Given the description of an element on the screen output the (x, y) to click on. 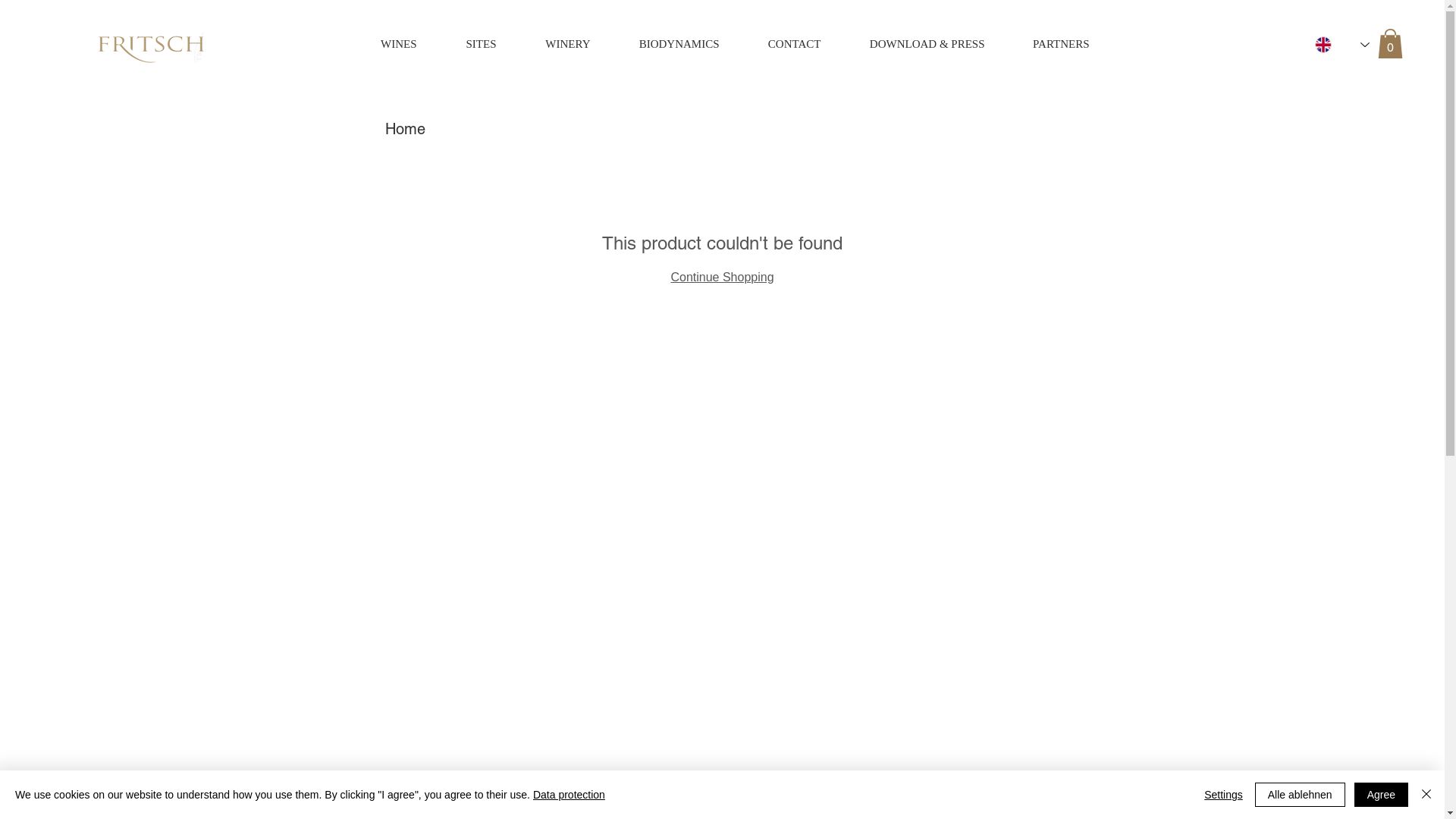
BIODYNAMICS Element type: text (666, 43)
WINERY Element type: text (555, 43)
CONTACT Element type: text (781, 43)
0 Element type: text (1389, 43)
Alle ablehnen Element type: text (1300, 794)
Home Element type: text (405, 128)
Agree Element type: text (1381, 794)
DOWNLOAD & PRESS Element type: text (914, 43)
SITES Element type: text (467, 43)
Continue Shopping Element type: text (721, 276)
Data protection Element type: text (569, 794)
